Given the description of an element on the screen output the (x, y) to click on. 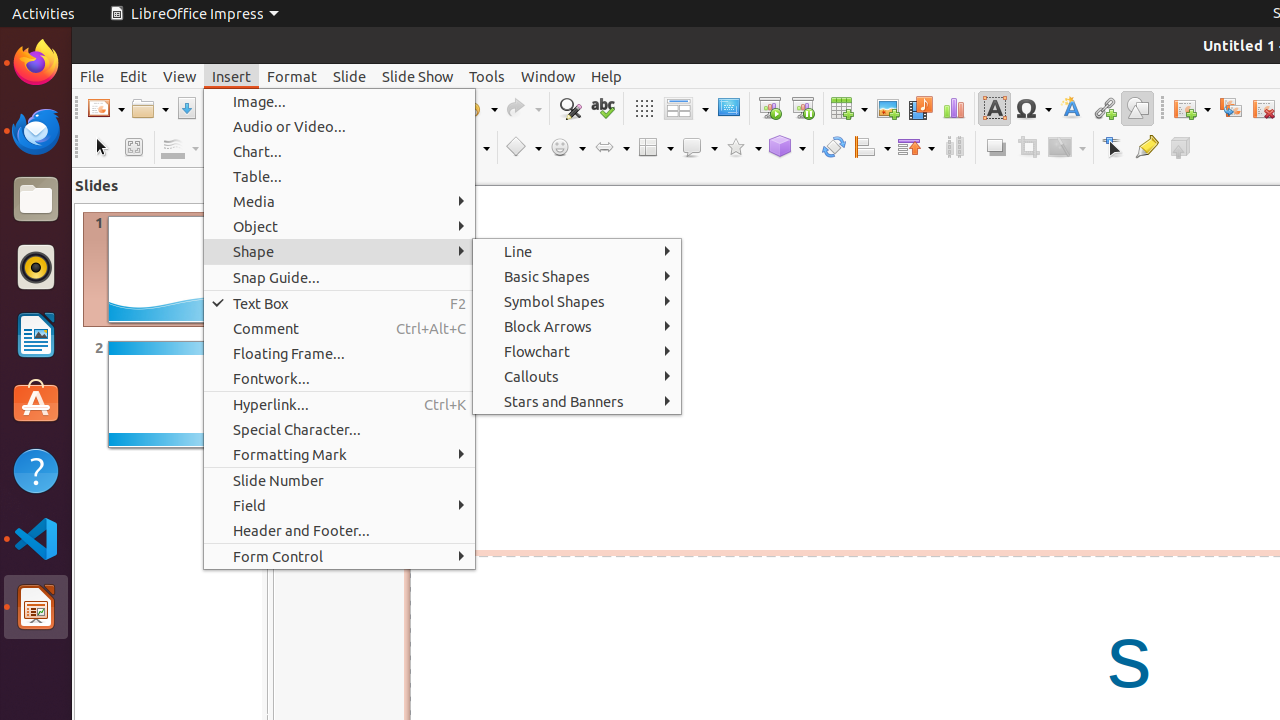
Special Character... Element type: menu-item (339, 429)
Flowchart Element type: menu (577, 351)
Tools Element type: menu (487, 76)
Visual Studio Code Element type: push-button (36, 538)
Slide Number Element type: menu-item (339, 480)
